Given the description of an element on the screen output the (x, y) to click on. 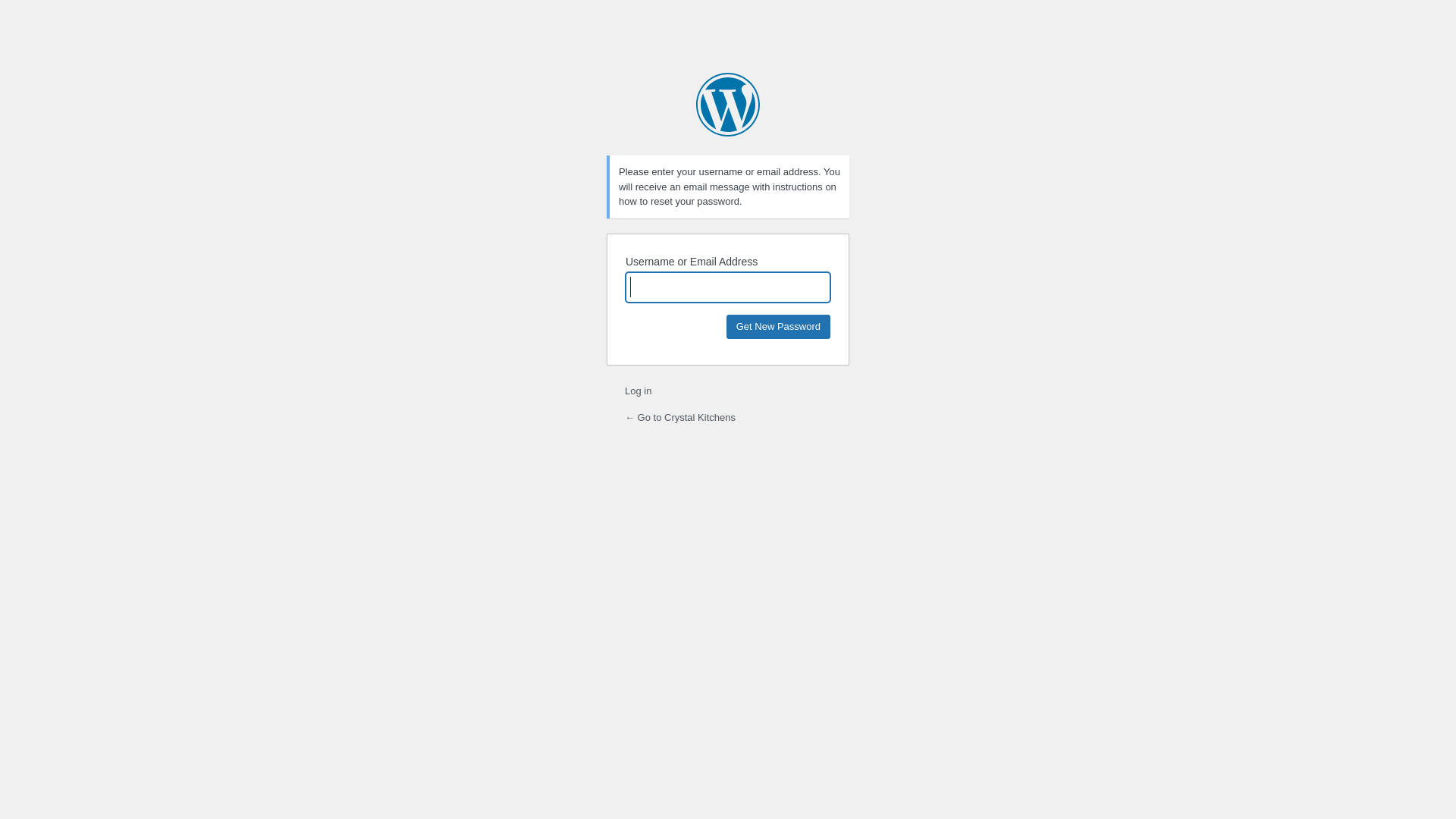
Log in Element type: text (637, 390)
Get New Password Element type: text (778, 325)
Powered by WordPress Element type: text (727, 104)
